Given the description of an element on the screen output the (x, y) to click on. 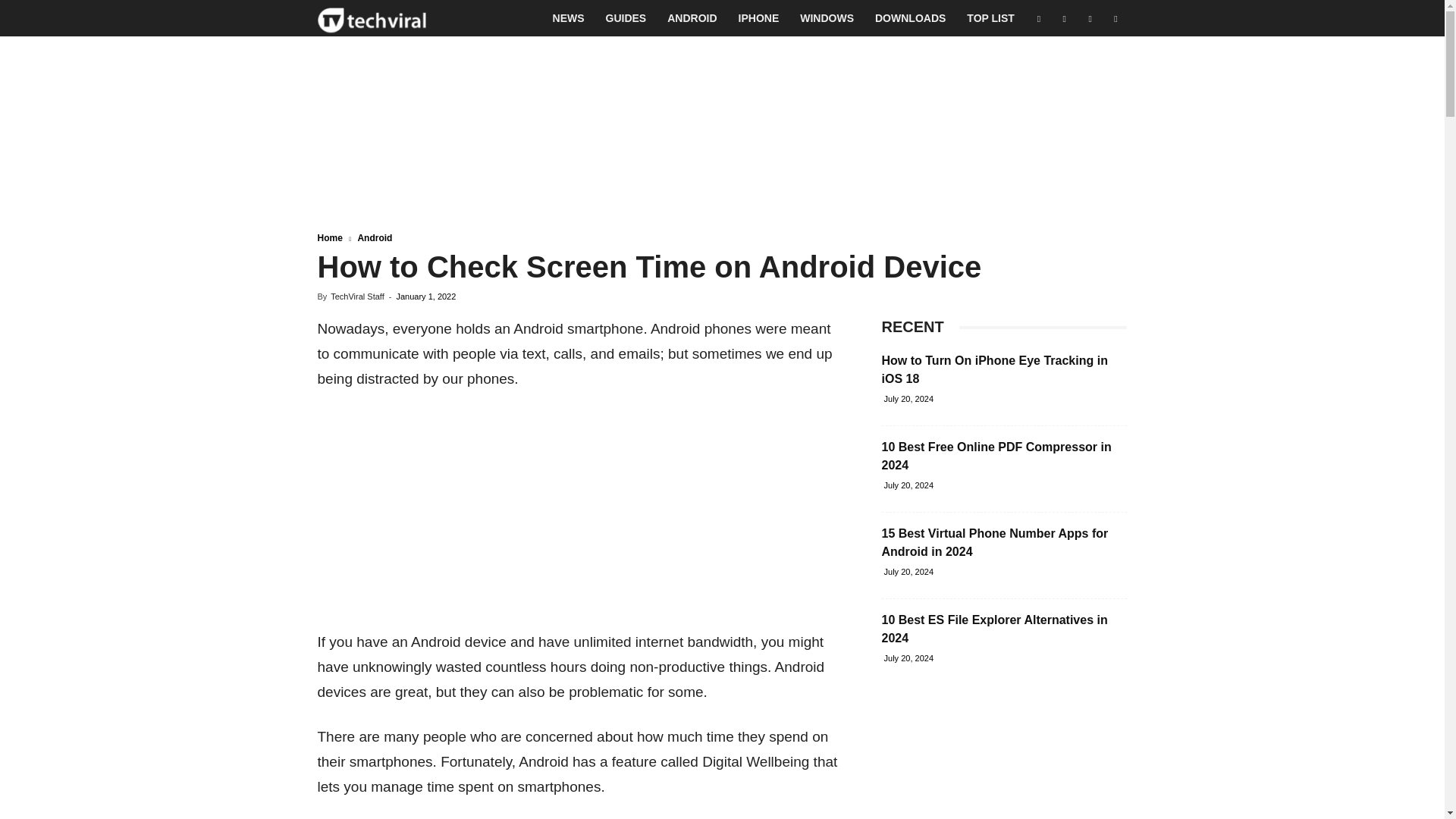
GUIDES (626, 18)
TOP LIST (990, 18)
NEWS (568, 18)
Home (329, 237)
TechViral (371, 18)
TechViral Staff (357, 296)
DOWNLOADS (910, 18)
IPHONE (759, 18)
ANDROID (691, 18)
WINDOWS (826, 18)
Tech Viral (371, 18)
